Given the description of an element on the screen output the (x, y) to click on. 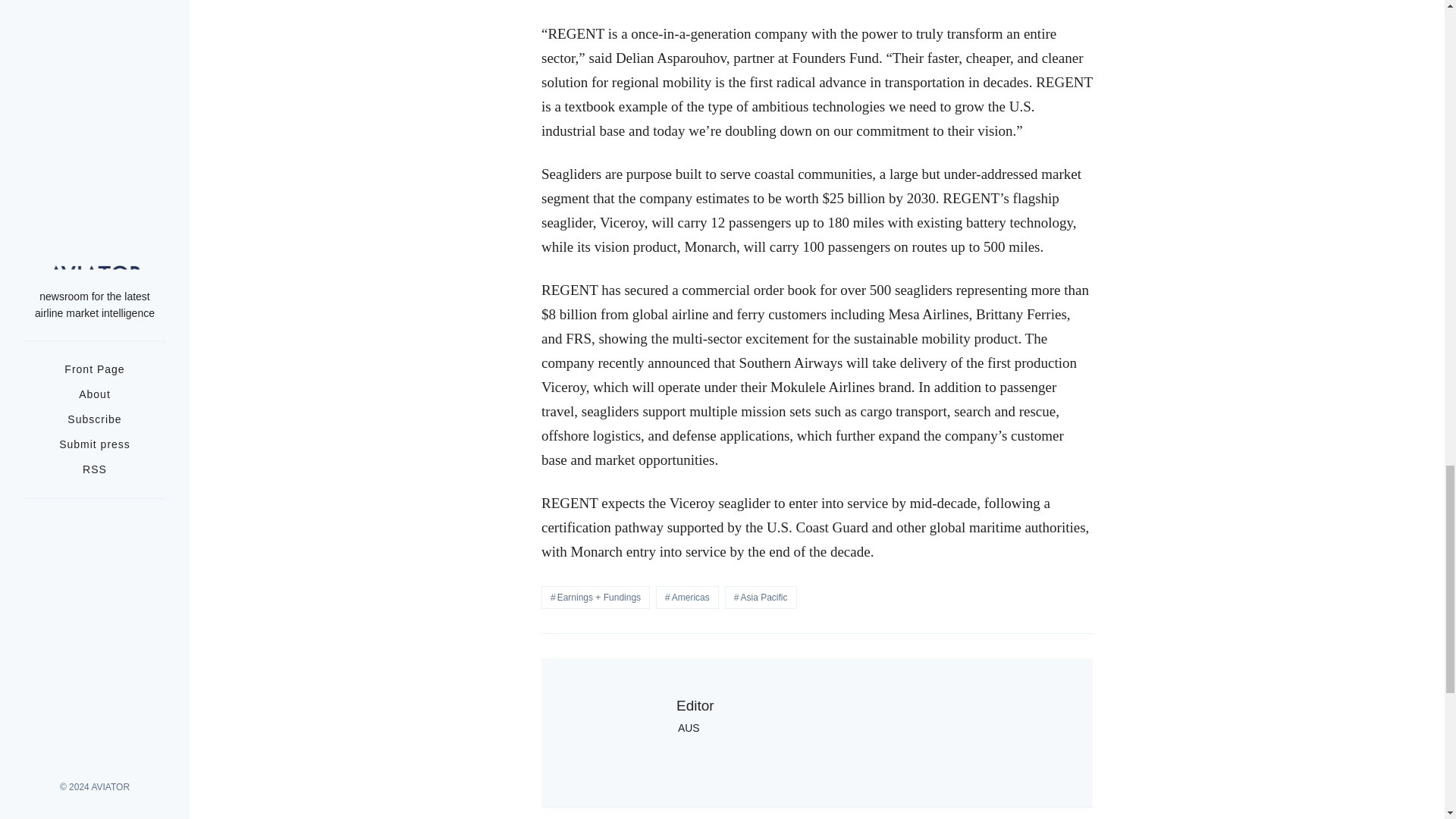
Editor (695, 705)
Asia Pacific (760, 597)
Americas (687, 597)
